Given the description of an element on the screen output the (x, y) to click on. 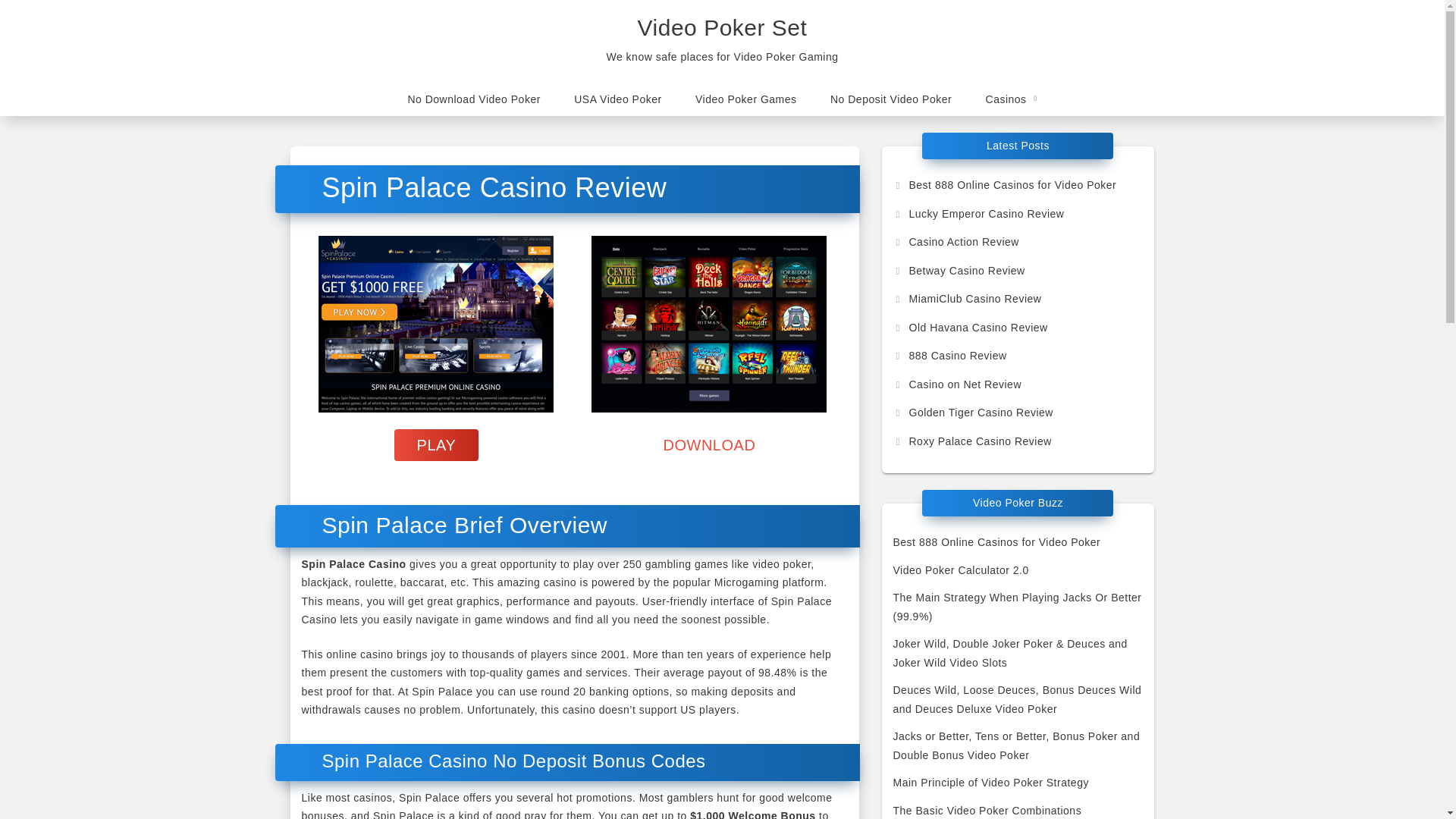
Old Havana Casino Review (970, 327)
Video Poker Calculator 2.0 (961, 570)
Video Poker Games (745, 98)
Roxy Palace Casino Review (972, 440)
888 Casino Review (950, 355)
No Download Video Poker (472, 98)
Casino on Net Review (957, 383)
USA Video Poker (618, 98)
MiamiClub Casino Review (967, 298)
DOWNLOAD (709, 444)
Betway Casino Review (959, 269)
Best 888 Online Casinos for Video Poker (996, 541)
Casinos (1011, 98)
Lucky Emperor Casino Review (978, 214)
Casino Action Review (956, 241)
